Given the description of an element on the screen output the (x, y) to click on. 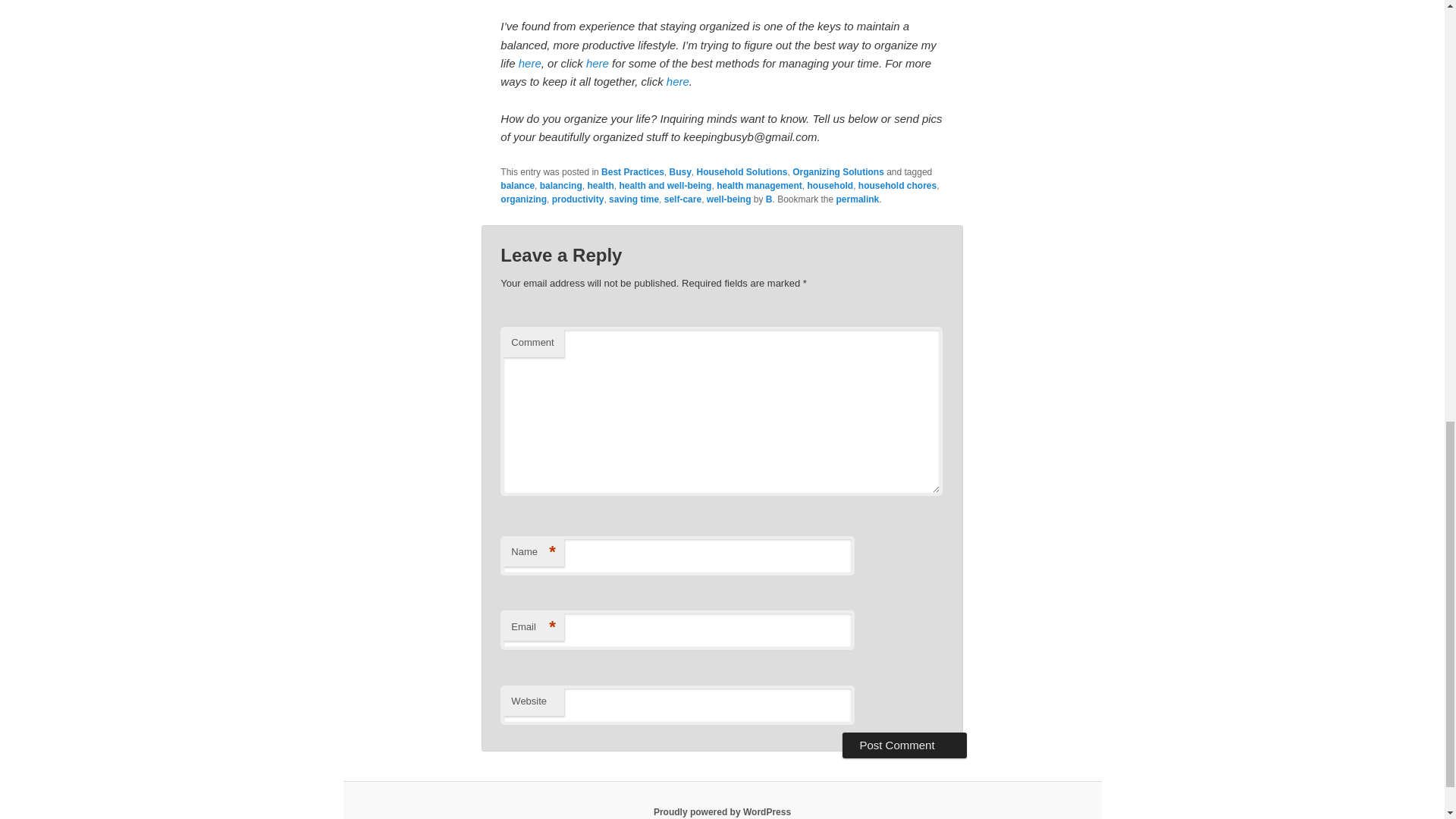
Permalink to 10 Reasons Being Organized is Good for You (857, 199)
here (597, 62)
Post Comment (904, 745)
here (529, 62)
here (677, 81)
Best Practices (632, 172)
Semantic Personal Publishing Platform (721, 811)
